Given the description of an element on the screen output the (x, y) to click on. 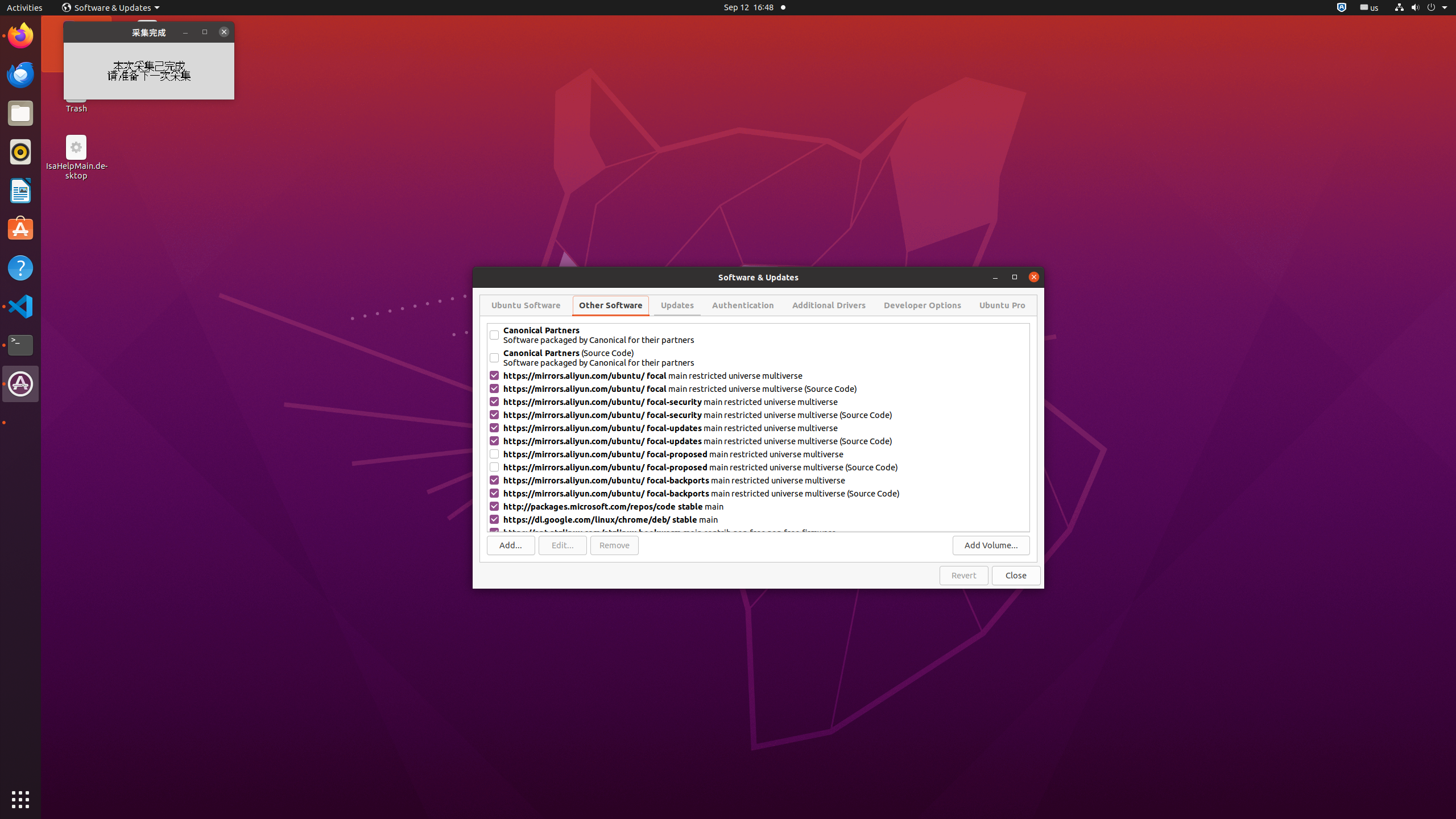
https://apt.atzlinux.com/atzlinux bookworm main contrib non-free non-free-firmware Element type: table-cell (765, 532)
Canonical Partners (Source Code)
Software packaged by Canonical for their partners Element type: table-cell (765, 357)
Remove Element type: push-button (614, 545)
https://mirrors.aliyun.com/ubuntu/ focal-proposed main restricted universe multiverse (Source Code) Element type: table-cell (765, 467)
